Given the description of an element on the screen output the (x, y) to click on. 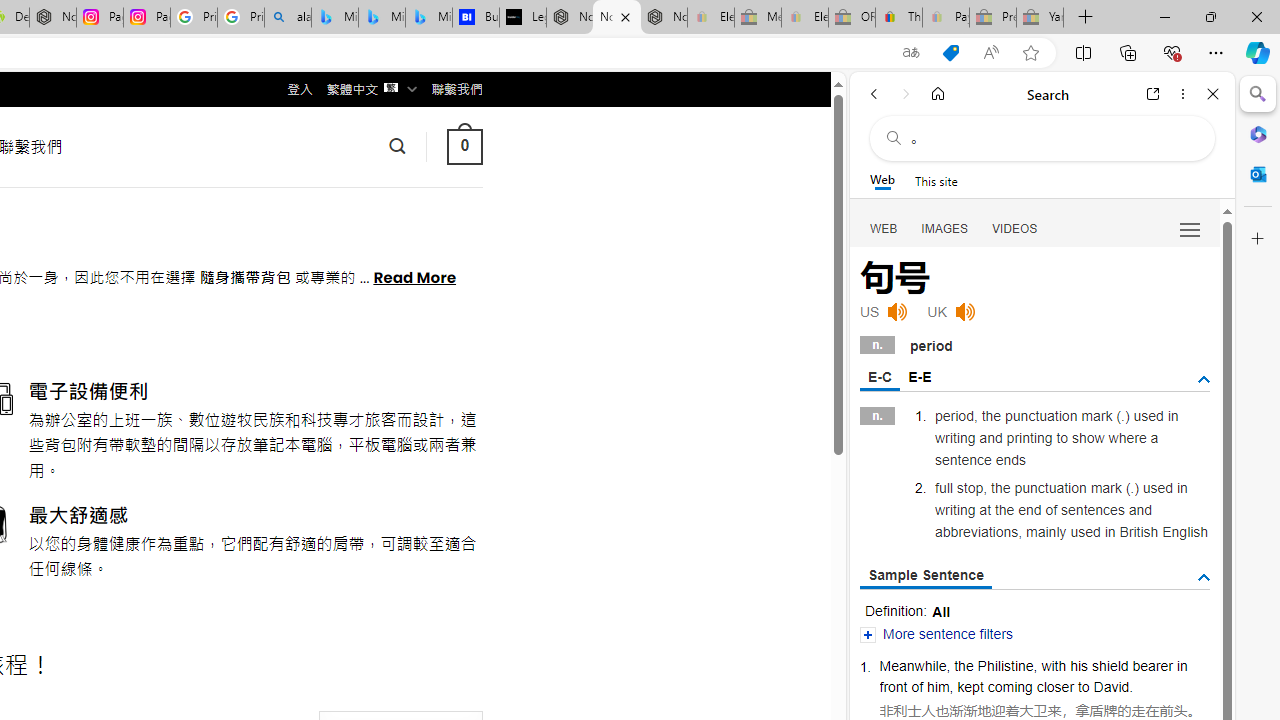
Read More (414, 276)
of (917, 686)
AutomationID: tgdef_sen (1203, 577)
with (1053, 665)
